Given the description of an element on the screen output the (x, y) to click on. 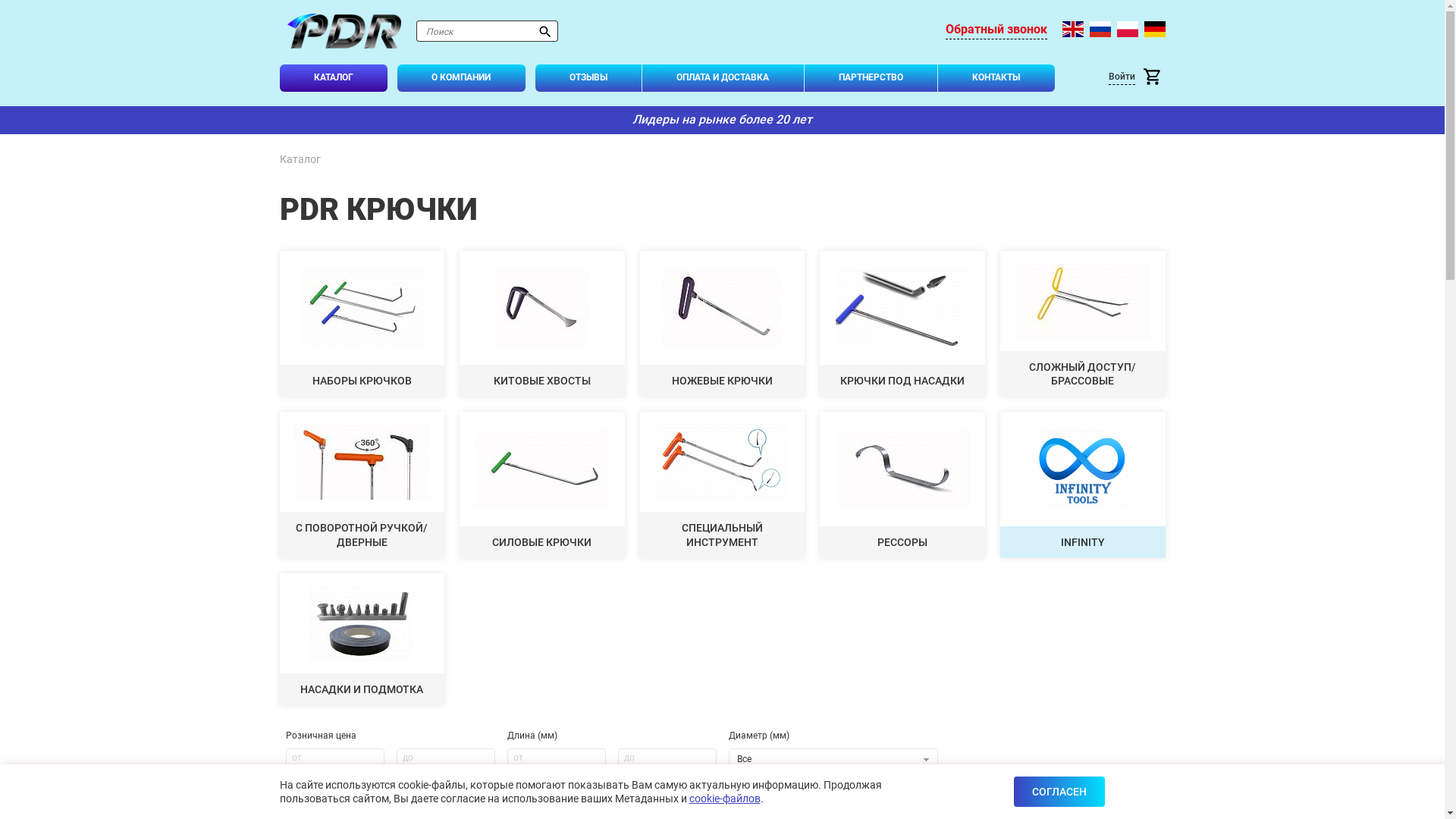
INFINITY Element type: text (1082, 484)
